Given the description of an element on the screen output the (x, y) to click on. 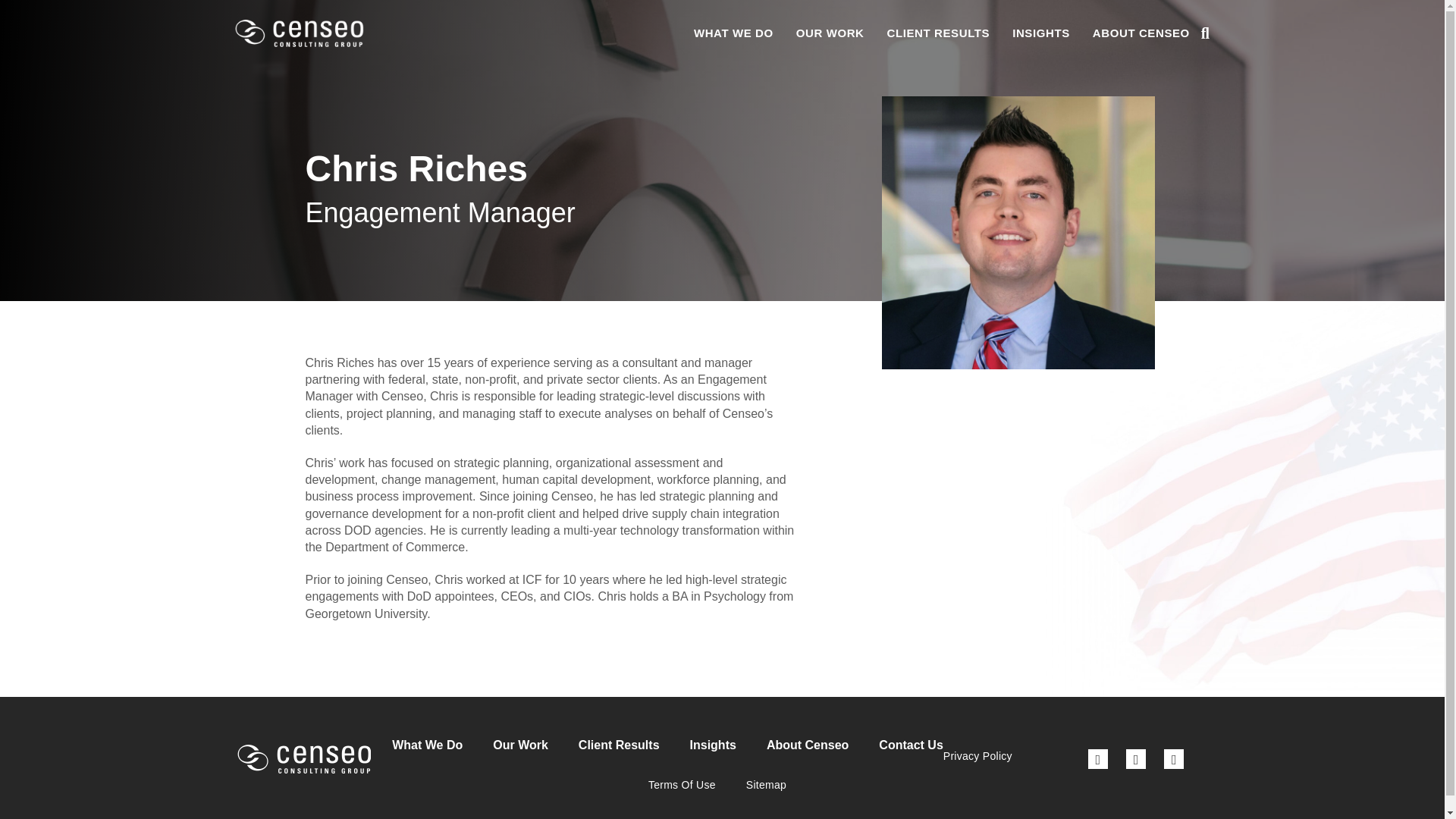
Chris Riches (1017, 232)
logo (302, 758)
